Given the description of an element on the screen output the (x, y) to click on. 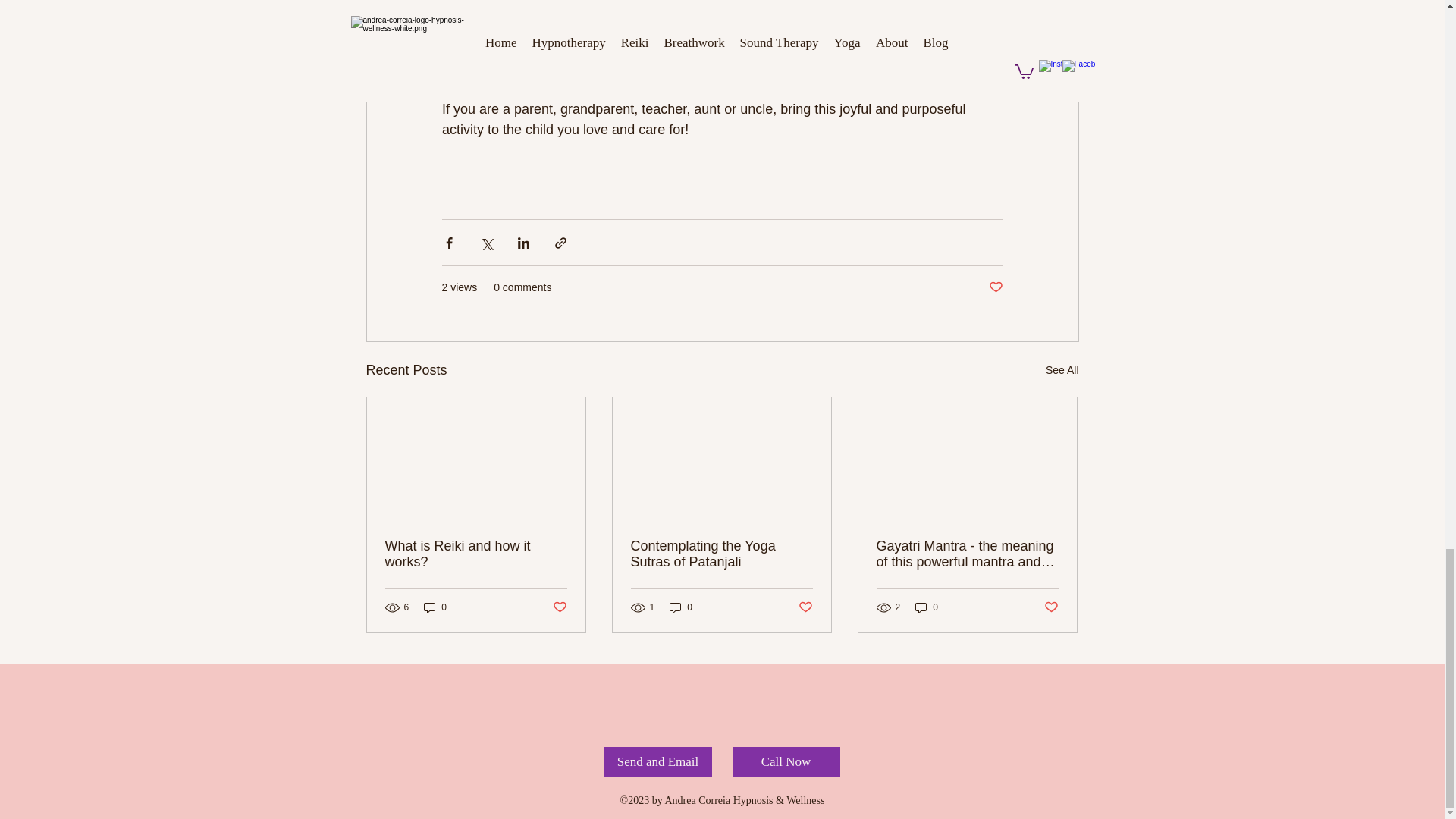
Post not marked as liked (804, 607)
Call Now (786, 761)
What is Reiki and how it works? (476, 554)
0 (926, 607)
Post not marked as liked (1050, 607)
Post not marked as liked (558, 607)
See All (1061, 370)
Post not marked as liked (995, 287)
Contemplating the Yoga Sutras of Patanjali (721, 554)
0 (435, 607)
Send and Email (657, 761)
0 (681, 607)
